Given the description of an element on the screen output the (x, y) to click on. 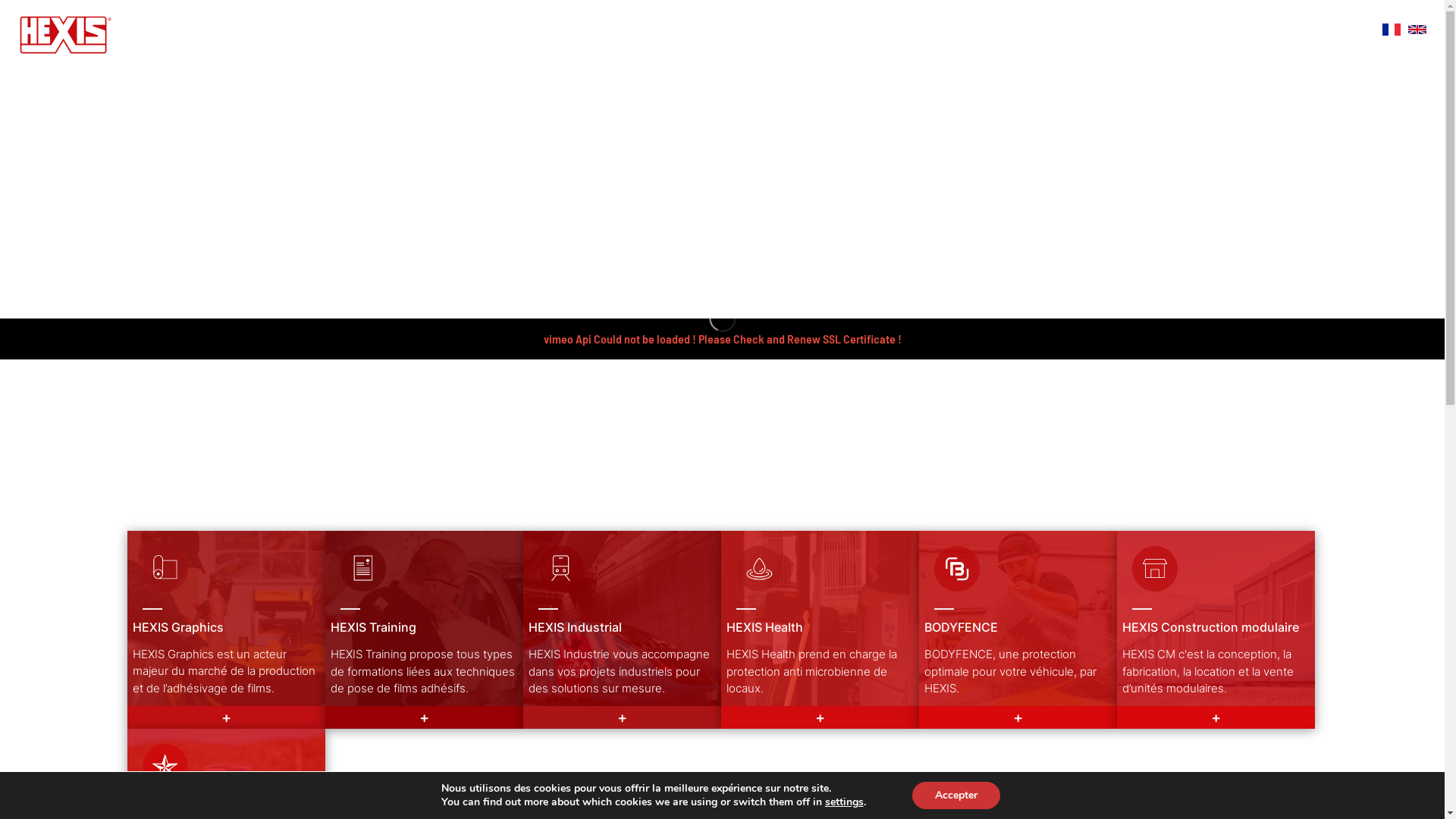
HEXIS GROUP Element type: text (984, 32)
Accepter Element type: text (956, 795)
+ Element type: text (1018, 717)
+ Element type: text (1215, 717)
+ Element type: text (622, 717)
+ Element type: text (819, 717)
+ Element type: text (226, 717)
+ Element type: text (423, 717)
